Given the description of an element on the screen output the (x, y) to click on. 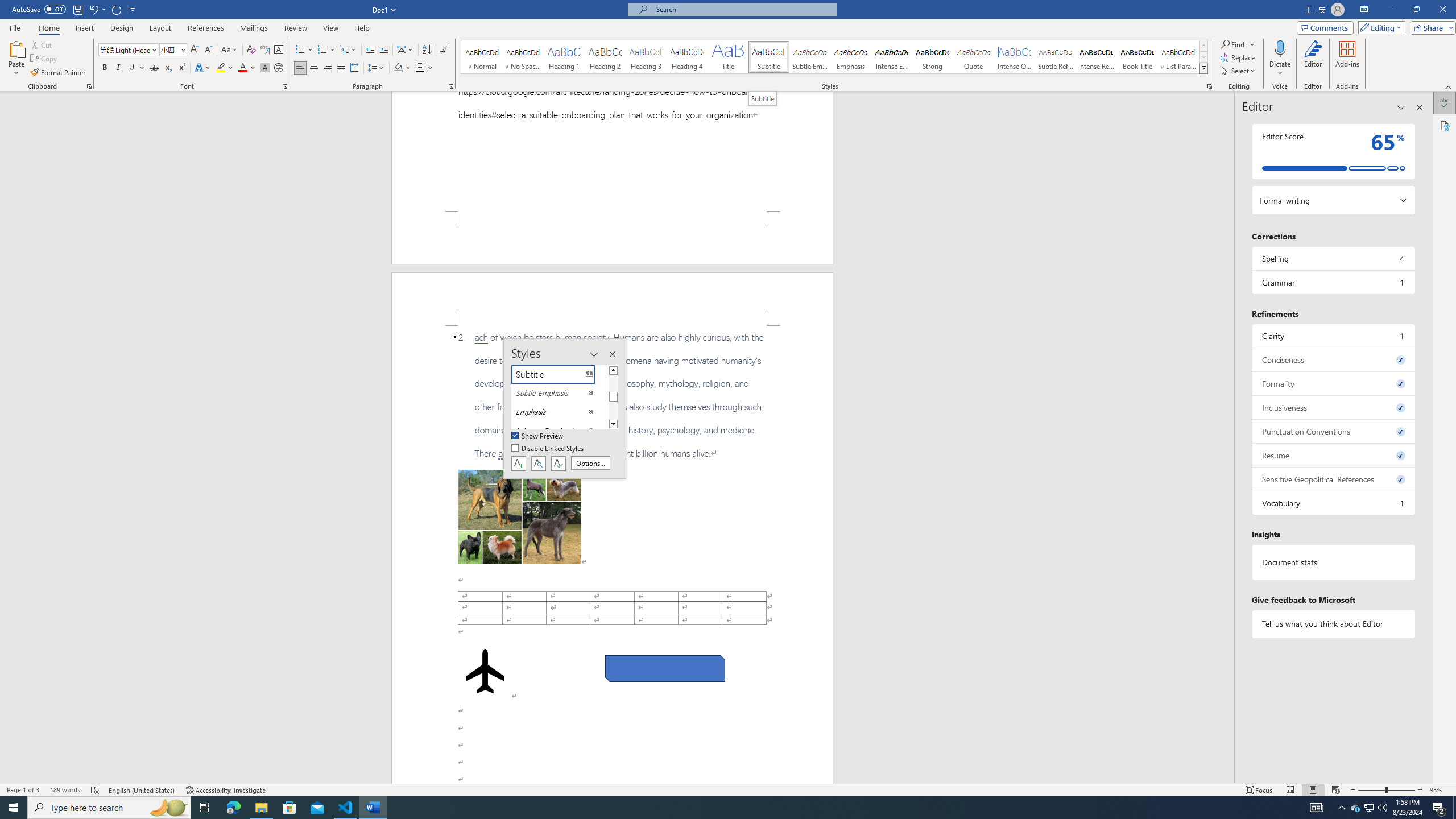
Character Shading (264, 67)
Editor (1312, 58)
Enclose Characters... (278, 67)
Heading 1 (564, 56)
Mailings (253, 28)
Tell us what you think about Editor (1333, 624)
Quick Access Toolbar (74, 9)
Numbering (326, 49)
Editor Score 65% (1333, 151)
Text Highlight Color Yellow (220, 67)
Sort... (426, 49)
Find (1232, 44)
Font Size (172, 49)
Grammar, 1 issue. Press space or enter to review items. (1333, 282)
Title (727, 56)
